Given the description of an element on the screen output the (x, y) to click on. 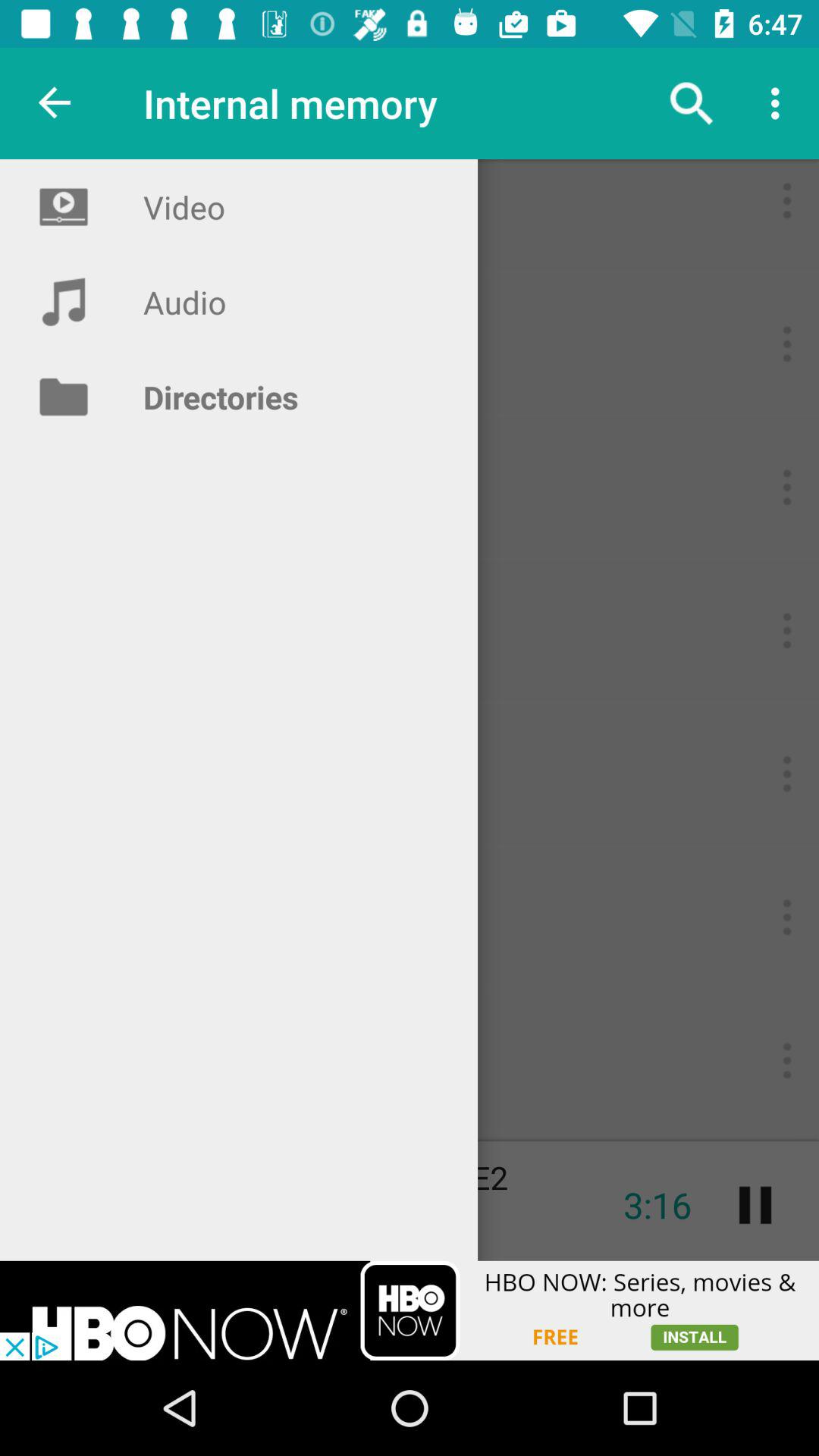
click on 3 vertical dots right to video (787, 200)
click the 2nd three dots button from the bottom right side of the web page (787, 917)
